Given the description of an element on the screen output the (x, y) to click on. 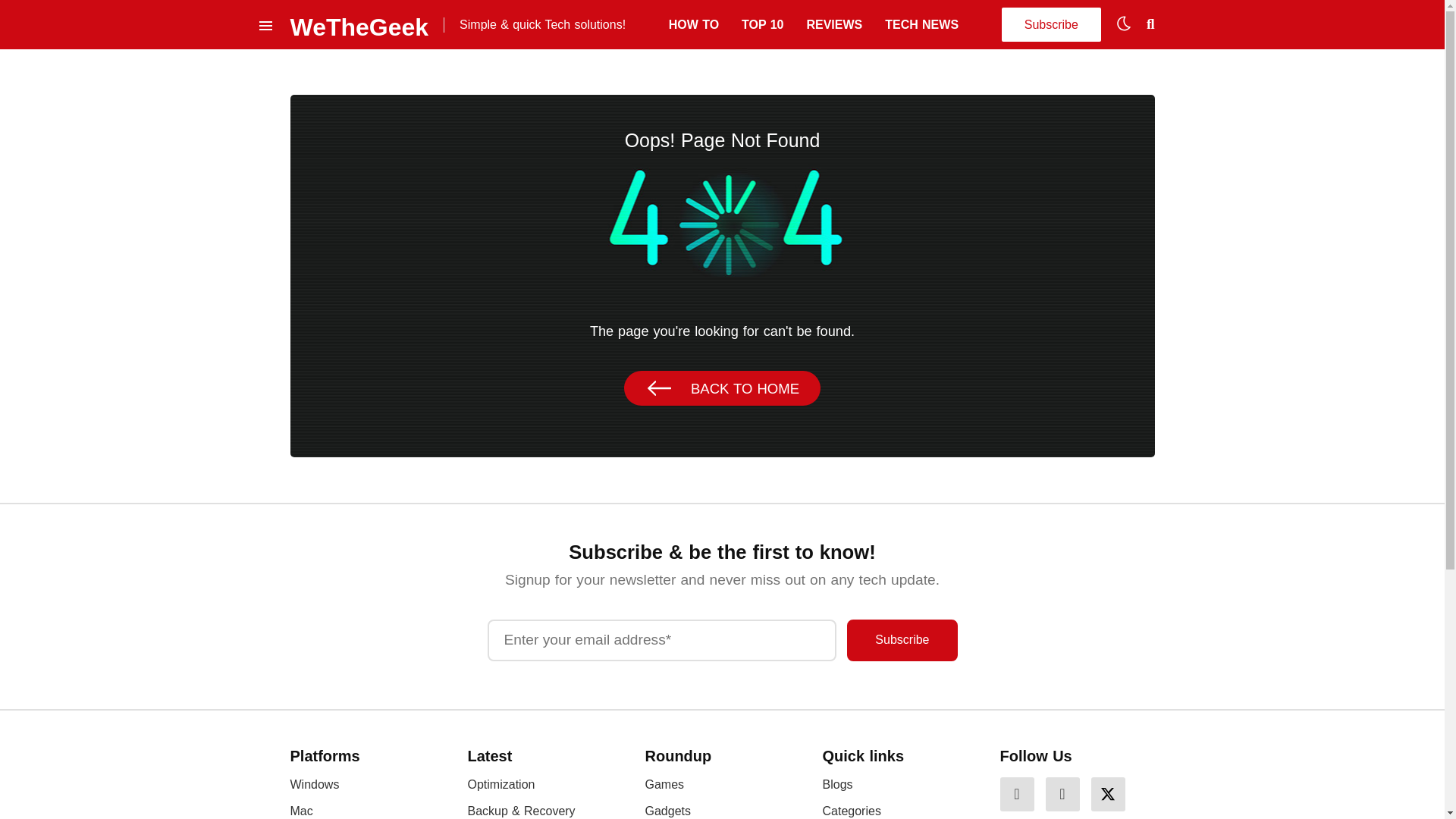
BACK TO HOME (722, 388)
HOW TO (693, 24)
Subscribe (901, 639)
WeTheGeek (358, 24)
REVIEWS (833, 24)
Mac (301, 810)
Windows (314, 784)
TOP 10 (762, 24)
TECH NEWS (921, 24)
Subscribe (901, 639)
